Given the description of an element on the screen output the (x, y) to click on. 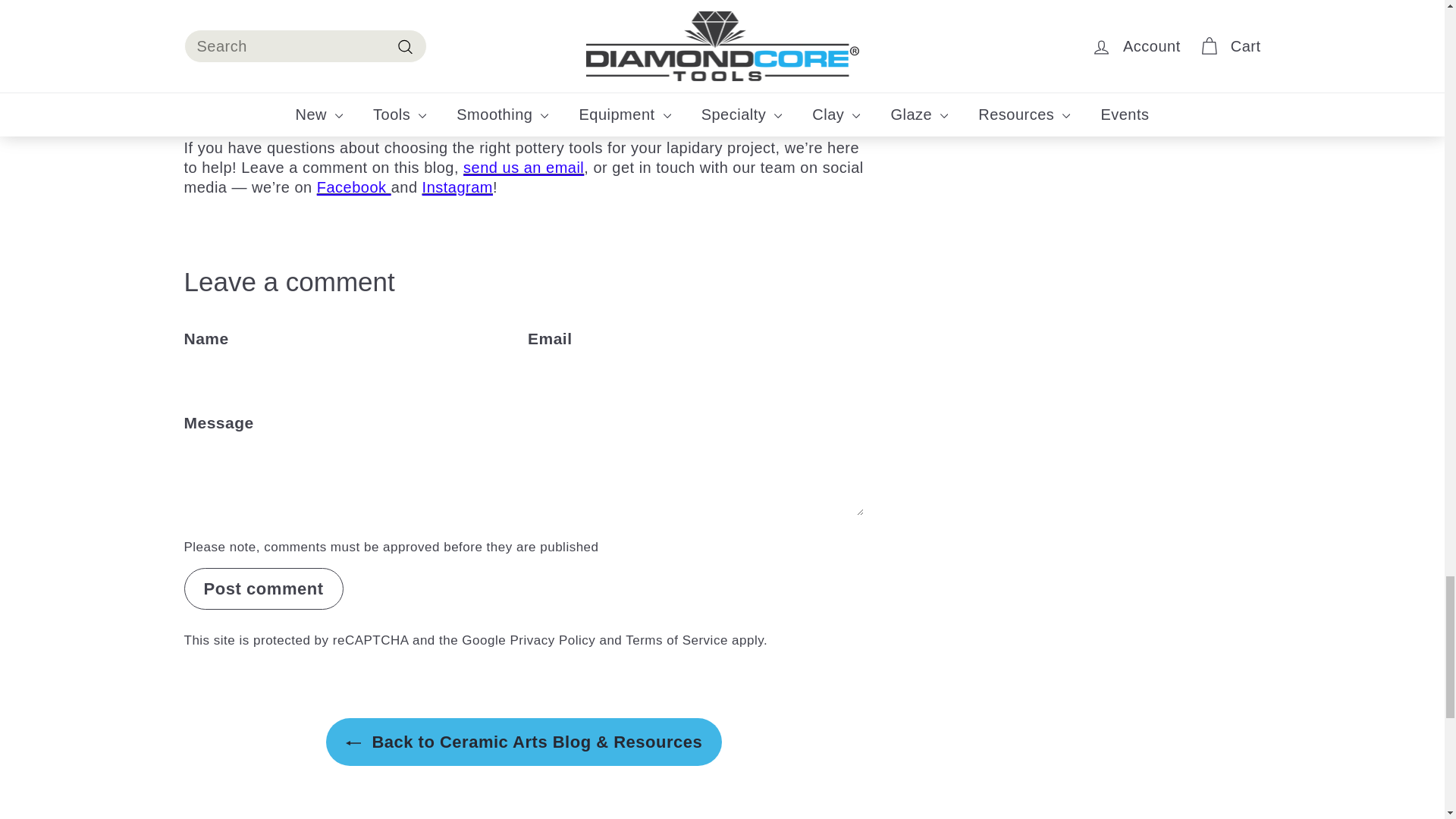
icon-left-arrow (353, 743)
